Given the description of an element on the screen output the (x, y) to click on. 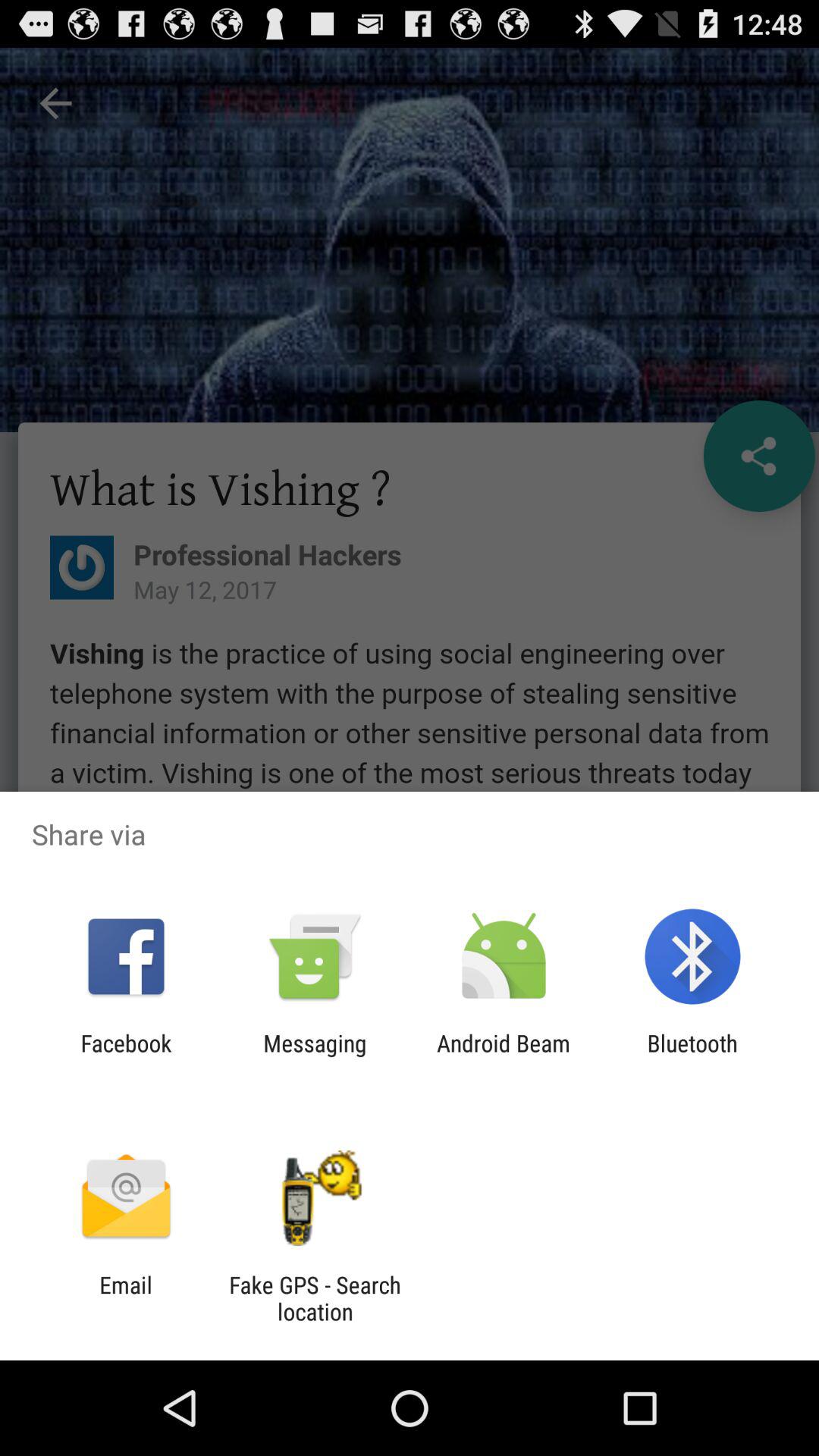
choose the item to the right of facebook (314, 1056)
